Given the description of an element on the screen output the (x, y) to click on. 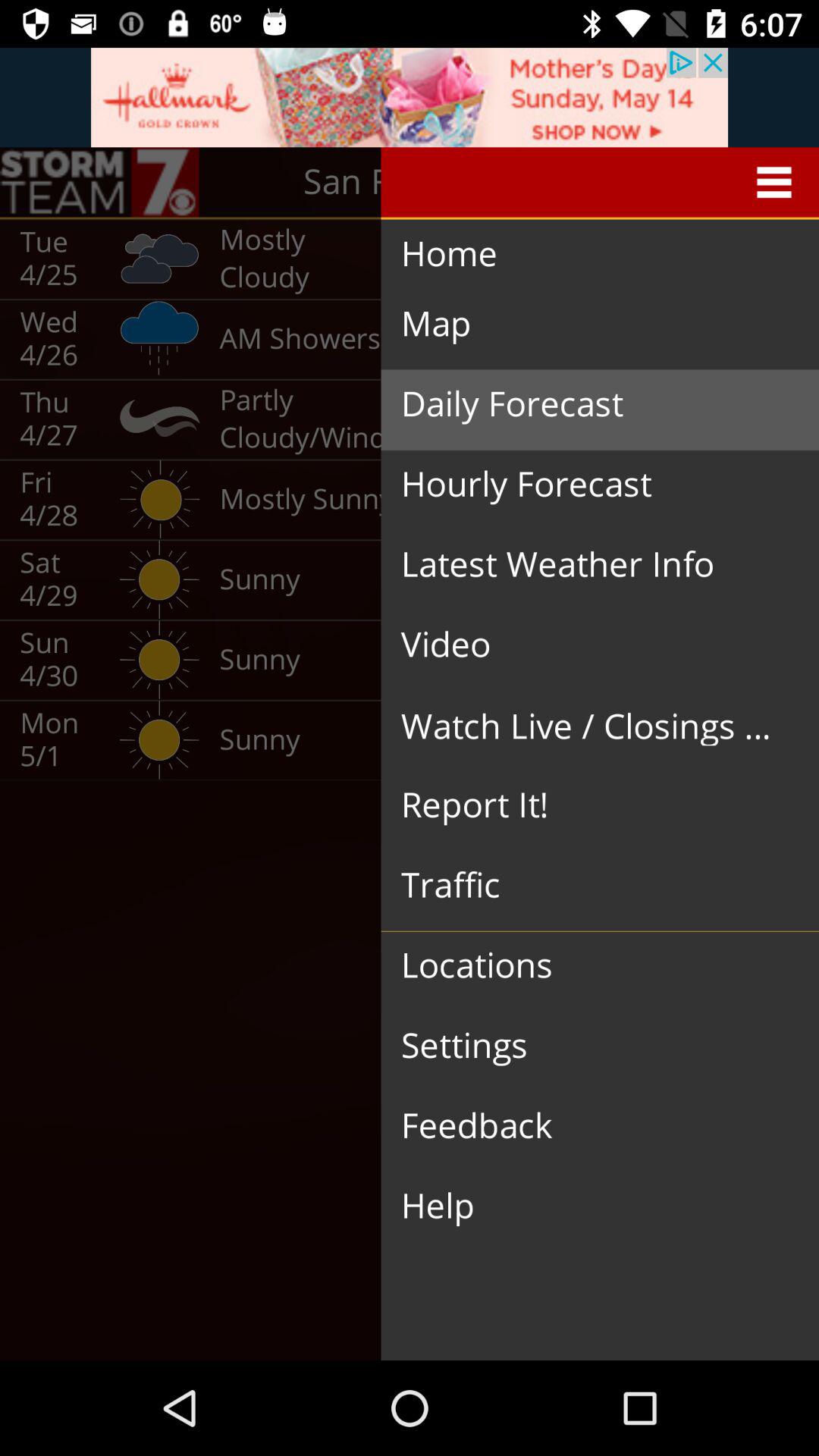
open help item (587, 1206)
